Given the description of an element on the screen output the (x, y) to click on. 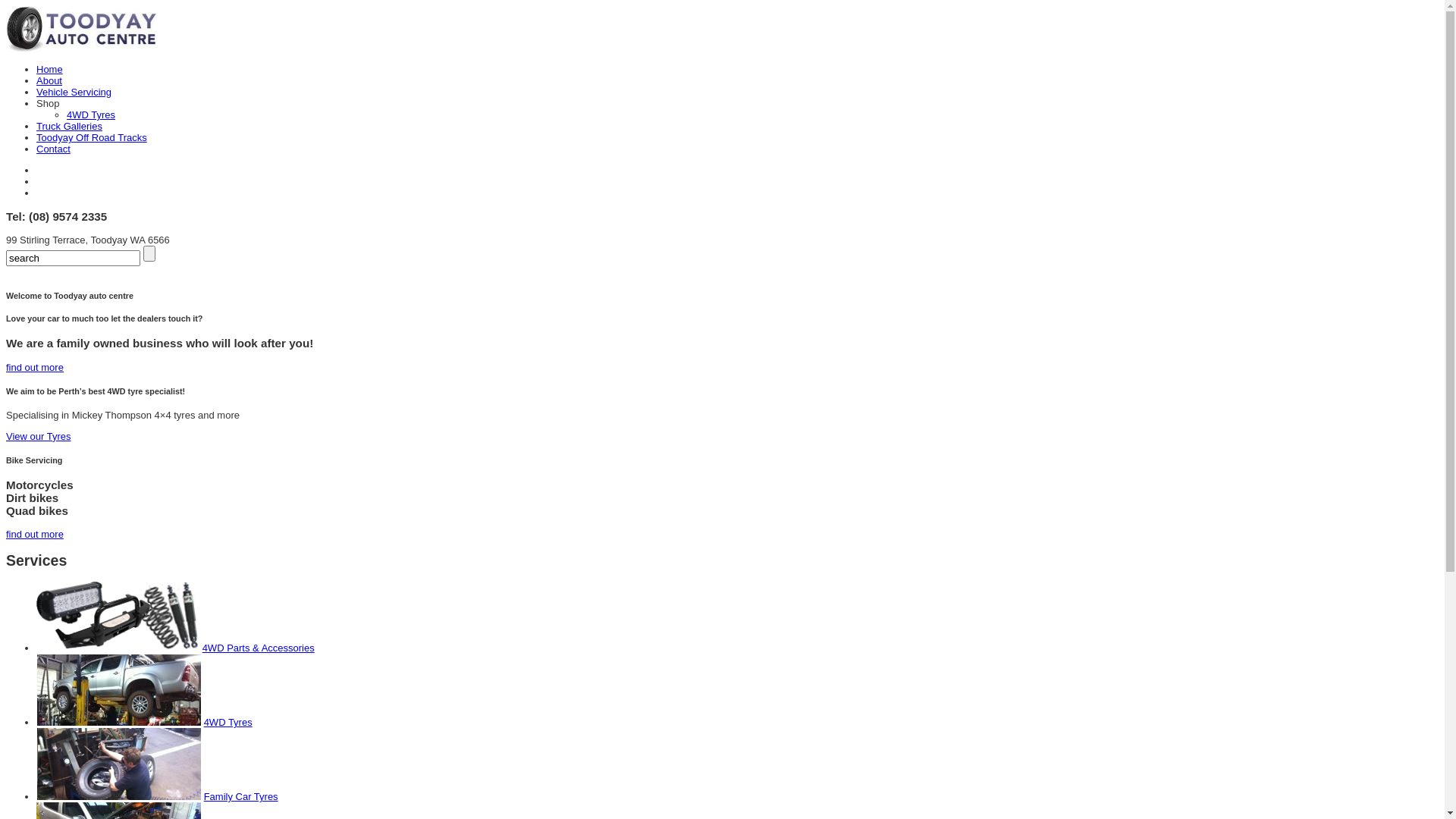
Shop Element type: text (47, 103)
find out more Element type: text (34, 367)
Family Car Tyres Element type: text (240, 796)
About Element type: text (49, 80)
Truck Galleries Element type: text (69, 125)
Home Element type: text (49, 69)
find out more Element type: text (34, 533)
View our Tyres Element type: text (38, 436)
4WD Tyres Element type: text (90, 114)
Toodyay Off Road Tracks Element type: text (91, 137)
Contact Element type: text (53, 148)
4WD Tyres Element type: text (227, 722)
Vehicle Servicing Element type: text (73, 91)
4WD Parts & Accessories Element type: text (258, 647)
